Given the description of an element on the screen output the (x, y) to click on. 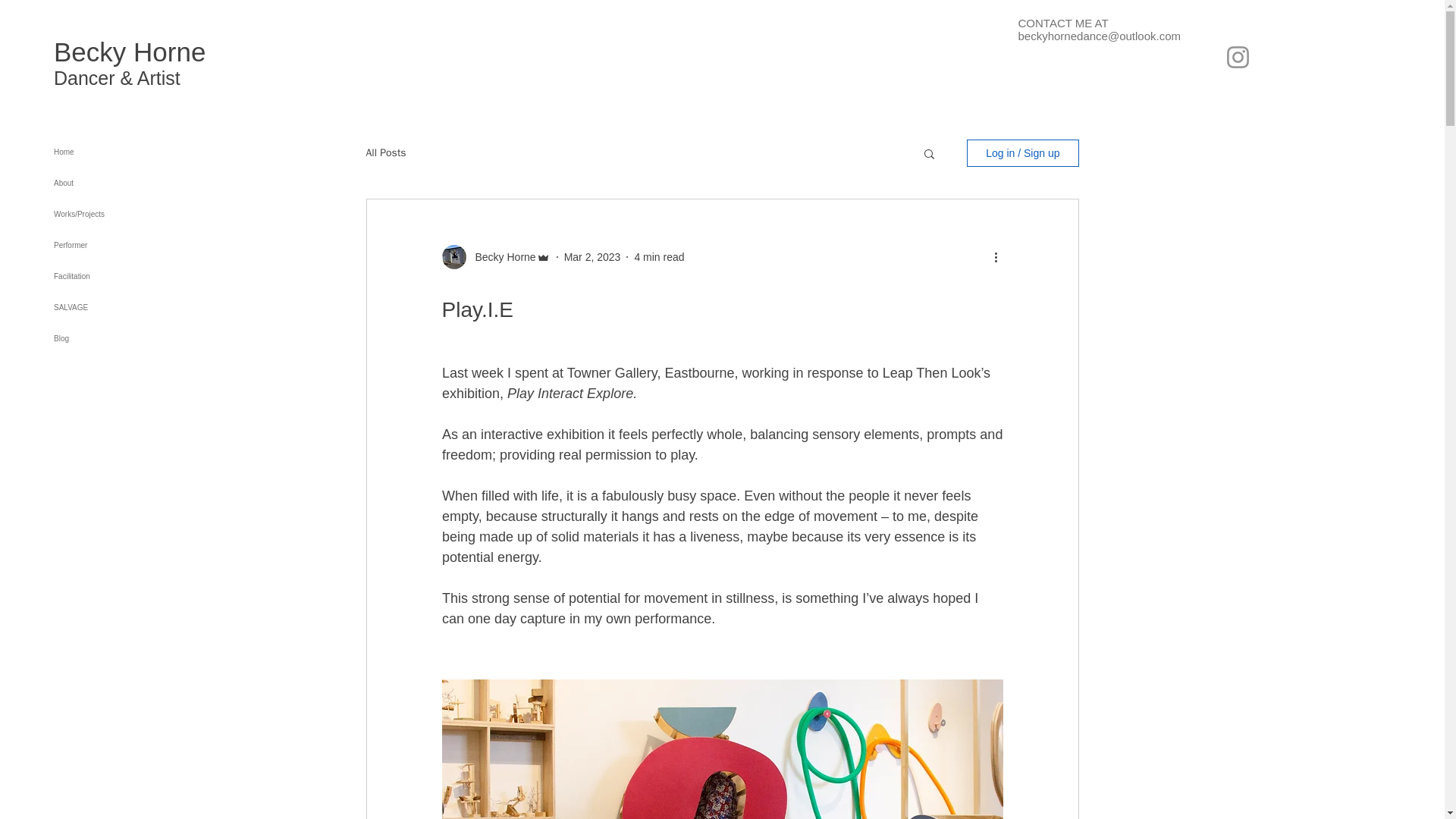
About (106, 183)
Becky Horne (500, 256)
4 min read (658, 256)
Facilitation (106, 276)
Performer (106, 245)
Mar 2, 2023 (592, 256)
SALVAGE (106, 306)
All Posts (385, 152)
Home (106, 151)
Becky Horne (129, 51)
